Given the description of an element on the screen output the (x, y) to click on. 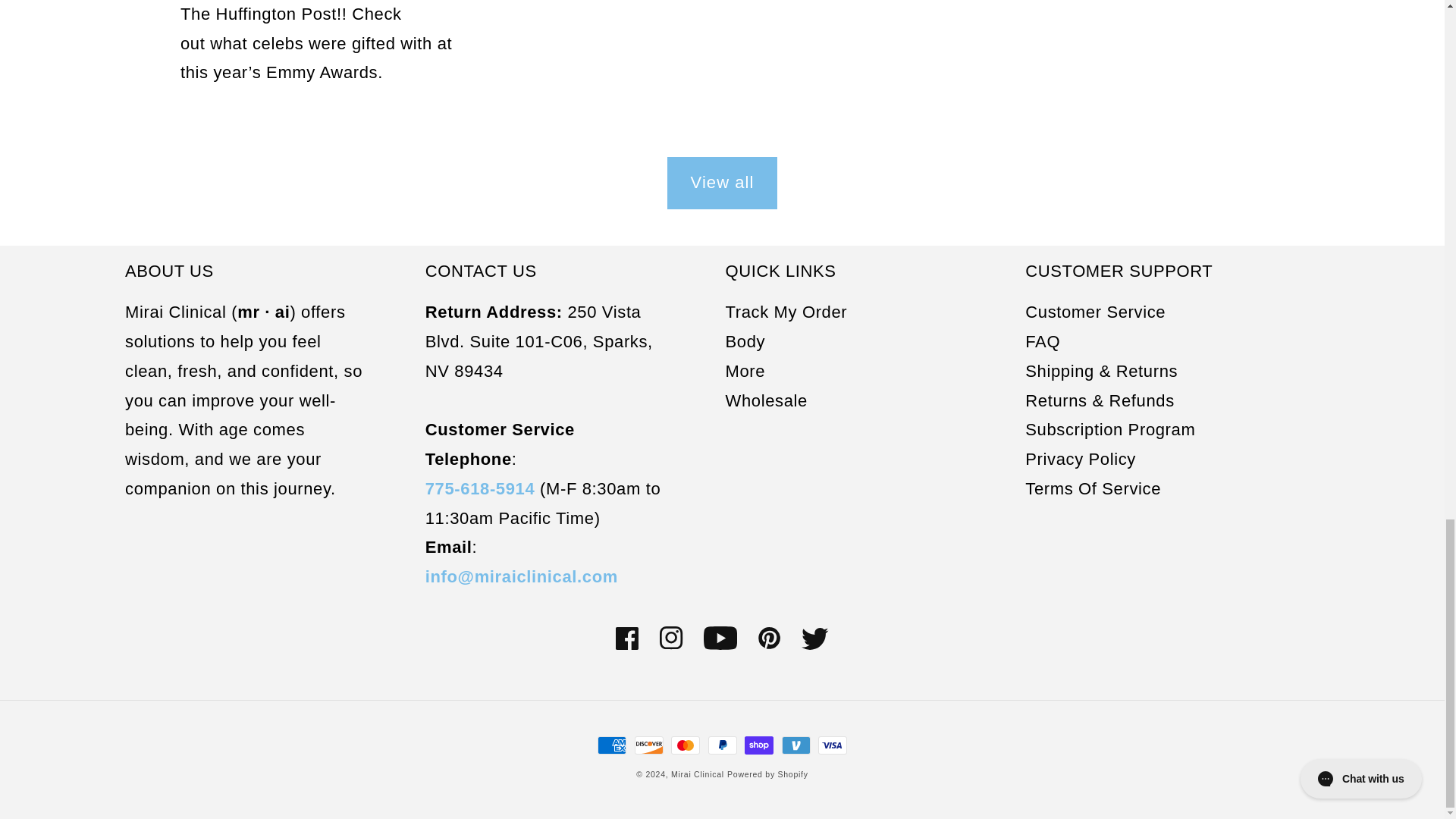
Replenishment Program (1110, 429)
tel:775-618-5914 (480, 488)
